Given the description of an element on the screen output the (x, y) to click on. 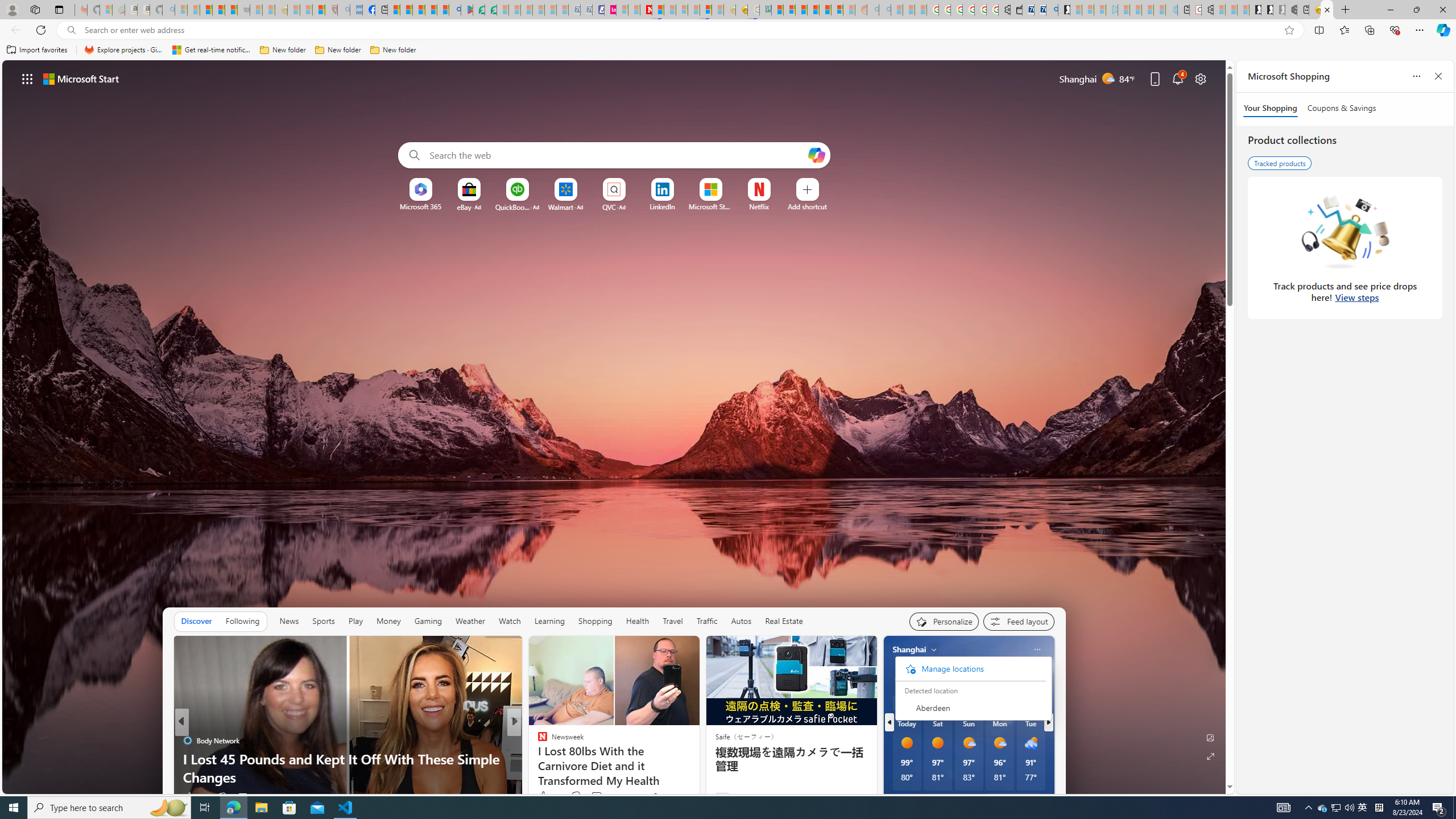
Jobs - lastminute.com Investor Portal (610, 9)
Expect rain showers next Tuesday (1040, 678)
New Report Confirms 2023 Was Record Hot | Watch (230, 9)
Netflix (758, 206)
I Lost 45 Pounds and Kept It Off With These Simple Changes (347, 767)
View comments 11 Comment (241, 797)
DITOGAMES AG Imprint (765, 9)
